Given the description of an element on the screen output the (x, y) to click on. 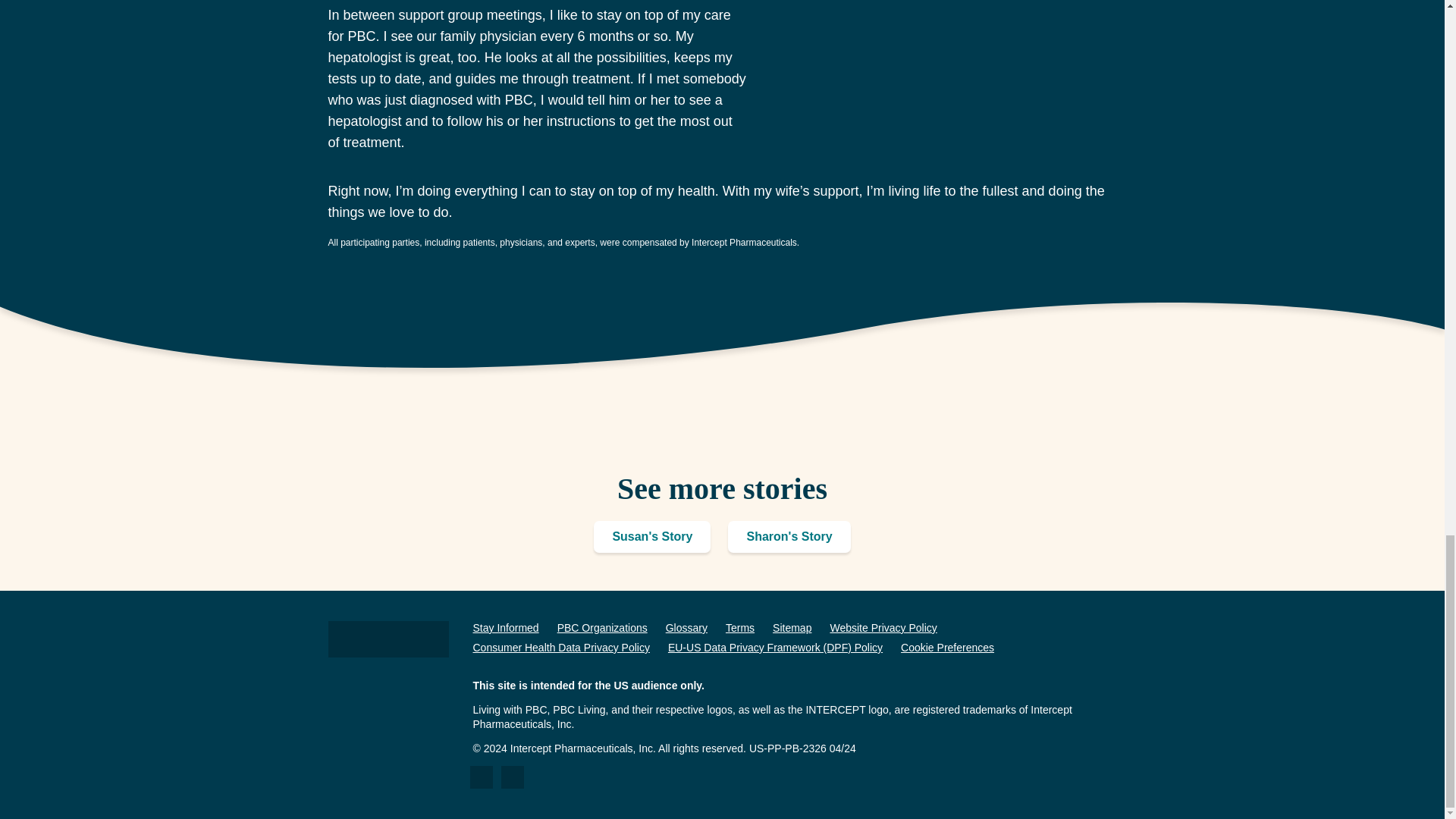
Terms (739, 627)
Susan's Story (652, 536)
PBC Organizations (602, 627)
Glossary (686, 627)
Consumer Health Data Privacy Policy (561, 647)
Intercept ALFASIGMAGROUP (387, 638)
Website Privacy Policy (882, 627)
Sitemap (791, 627)
Stay Informed (505, 627)
Sharon's Story (789, 536)
Cookie Preferences (947, 647)
